Given the description of an element on the screen output the (x, y) to click on. 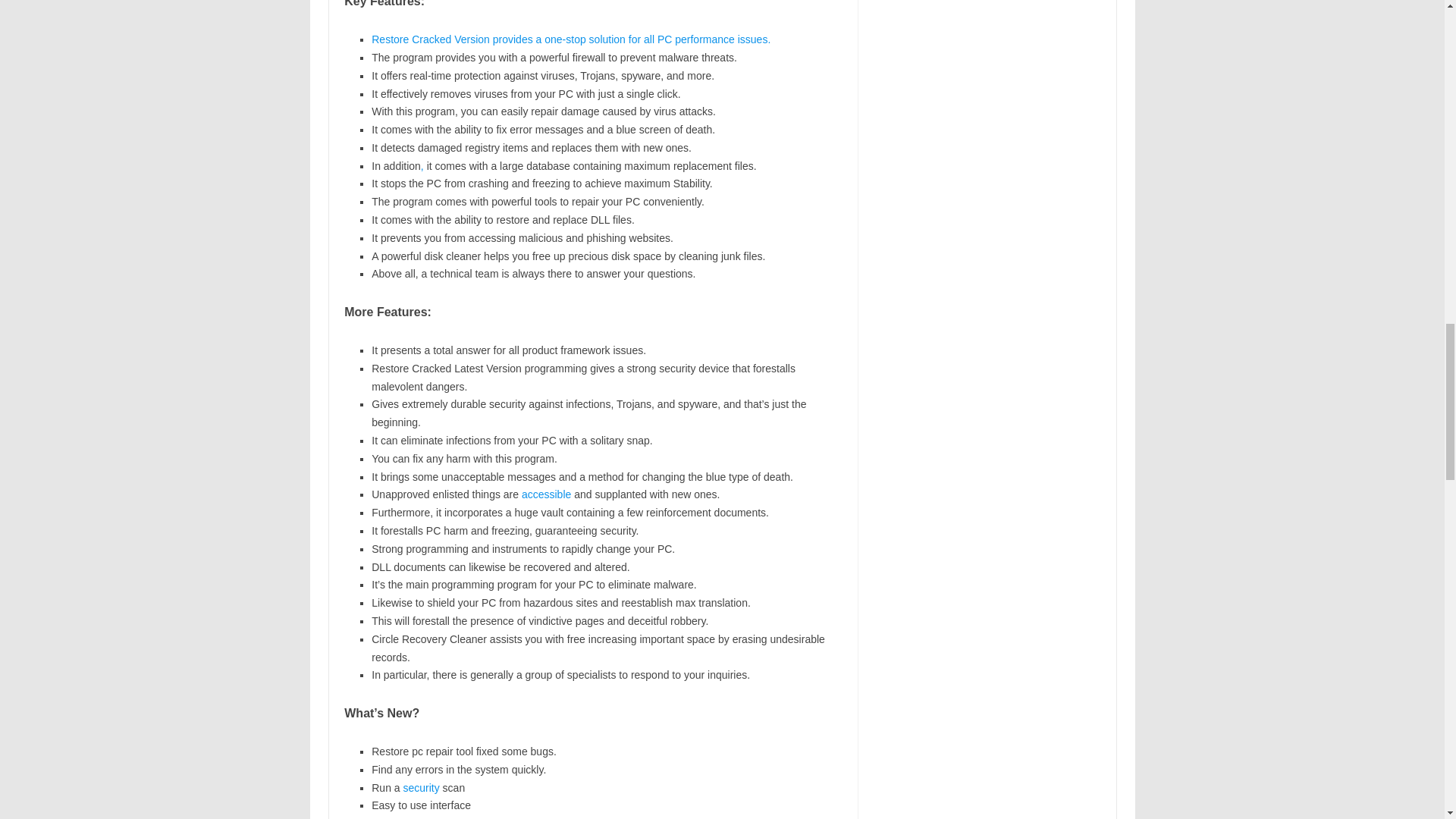
security (421, 787)
accessible (545, 494)
